Given the description of an element on the screen output the (x, y) to click on. 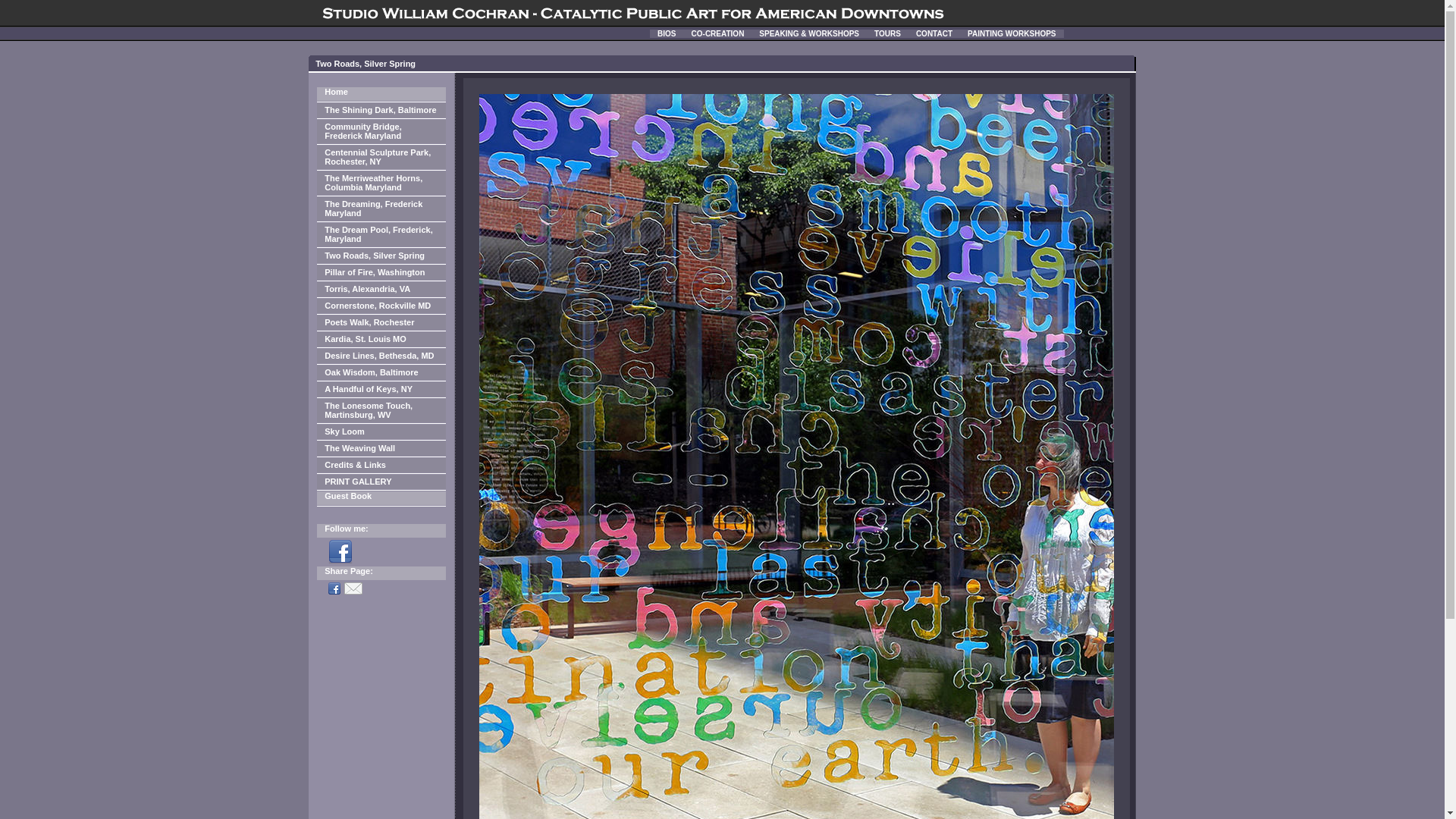
Sky Loom (381, 431)
PAINTING WORKSHOPS (1010, 32)
The Shining Dark, Baltimore (381, 110)
Two Roads, Silver Spring (381, 255)
Pillar of Fire, Washington (381, 272)
Follow me: (381, 530)
TOURS (887, 32)
BIOS (665, 32)
The Weaving Wall (381, 448)
Share Page: (381, 572)
The Merriweather Horns, Columbia Maryland (381, 182)
The Dreaming, Frederick Maryland (381, 208)
Centennial Sculpture Park, Rochester, NY (381, 156)
Desire Lines, Bethesda, MD (381, 355)
Home (381, 93)
